Given the description of an element on the screen output the (x, y) to click on. 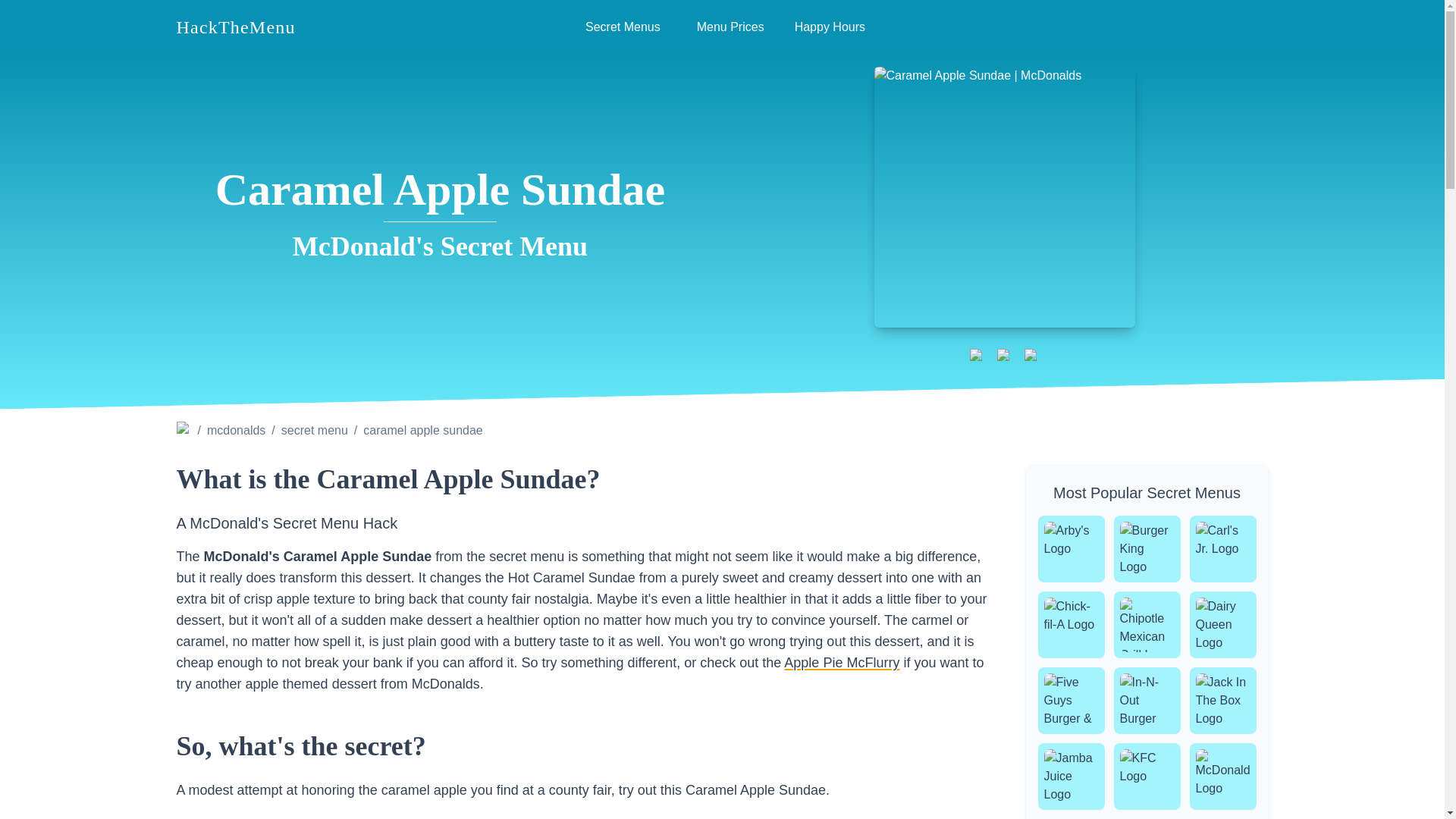
Share on Twitter (1003, 355)
mcdonalds (235, 430)
HackTheMenu (235, 27)
Share on Reddit (1031, 355)
Main Menu (721, 27)
Happy Hours (830, 27)
What is the Caramel Apple Sundae? (582, 479)
caramel apple sundae (421, 430)
secret menu (722, 27)
